Given the description of an element on the screen output the (x, y) to click on. 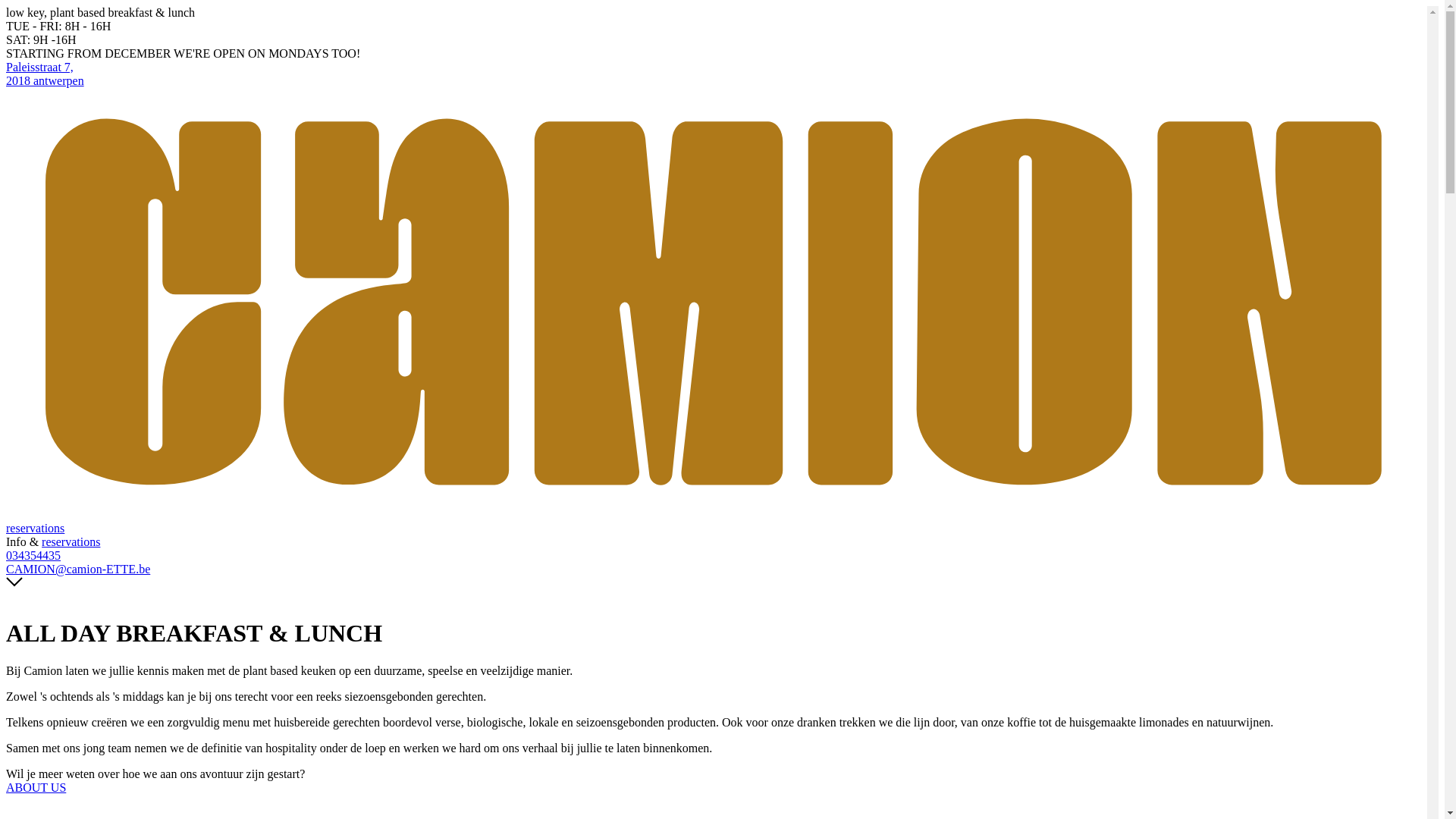
CAMION@camion-ETTE.be Element type: text (716, 569)
ABOUT US Element type: text (35, 787)
reservations Element type: text (70, 541)
reservations Element type: text (35, 527)
034354435 Element type: text (716, 555)
Paleisstraat 7,
2018 antwerpen Element type: text (716, 73)
